Given the description of an element on the screen output the (x, y) to click on. 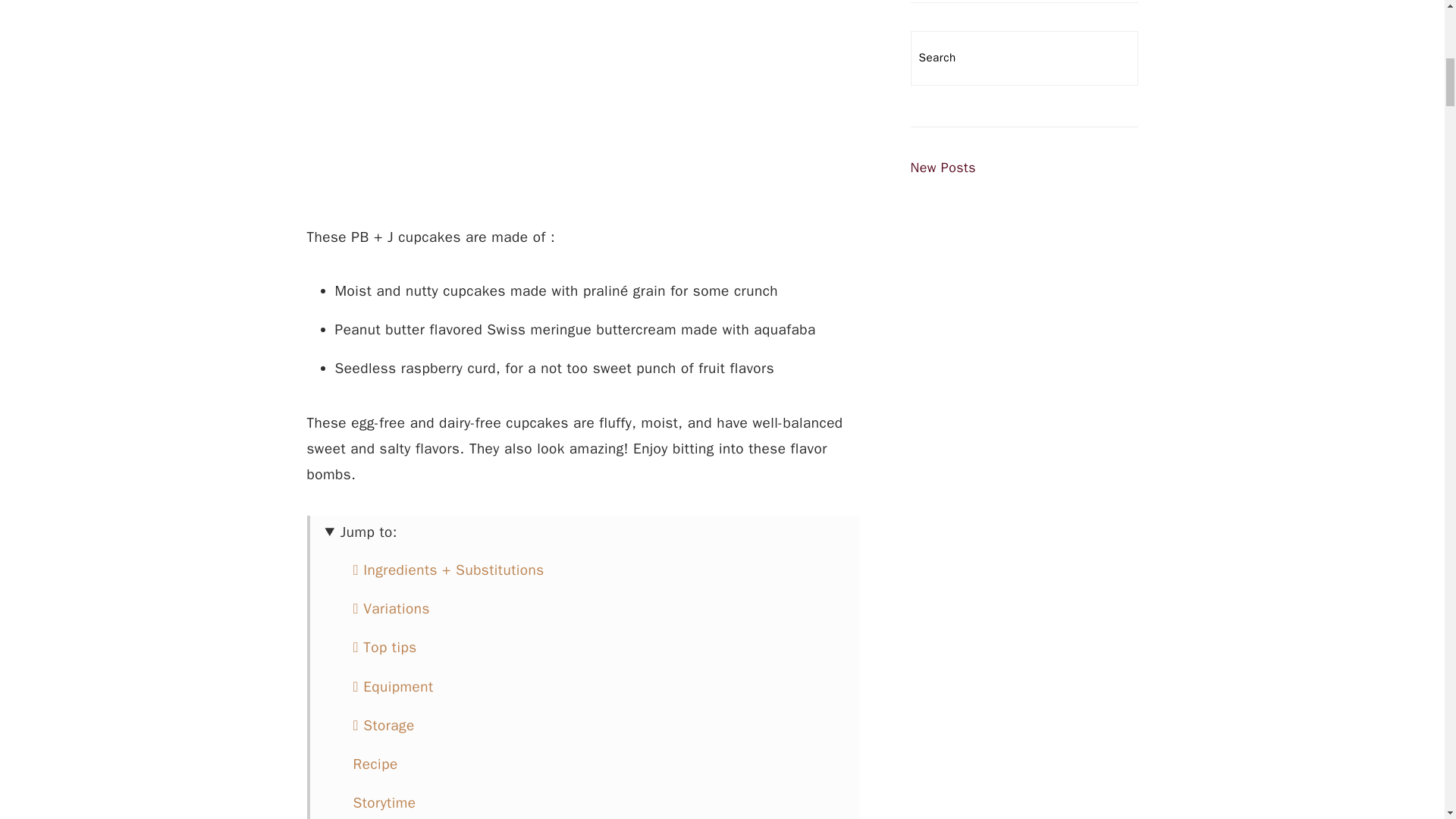
Vegan Strawberry and White Chocolate Mousse Jars (1023, 579)
Recipe (375, 764)
Vegan Blueberry Coffee Cake (1023, 306)
Vegan S'more Tart with Toasted Marshmallow (1023, 778)
Storytime (384, 802)
